Given the description of an element on the screen output the (x, y) to click on. 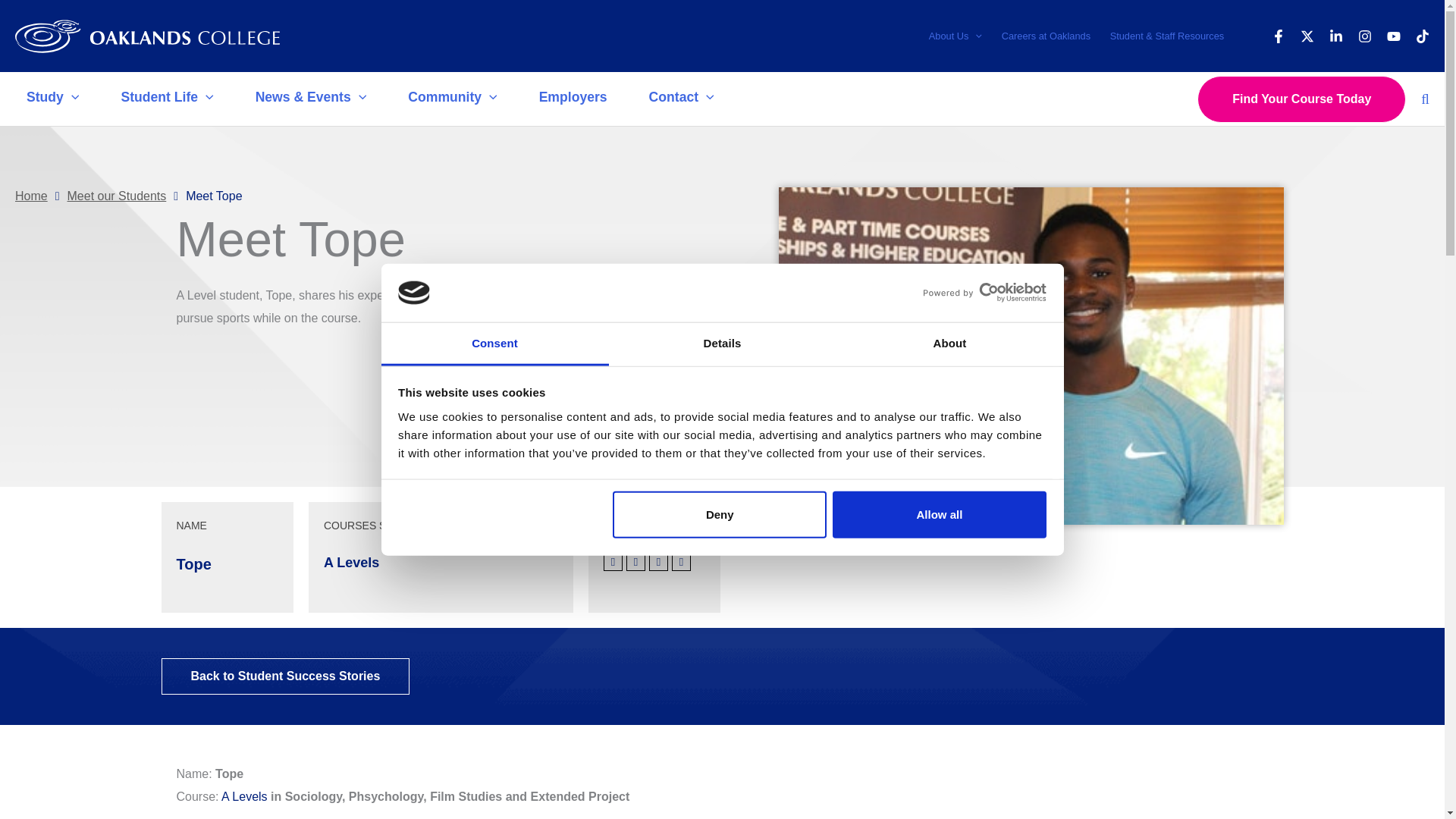
Consent (494, 344)
Details (721, 344)
About (948, 344)
